Given the description of an element on the screen output the (x, y) to click on. 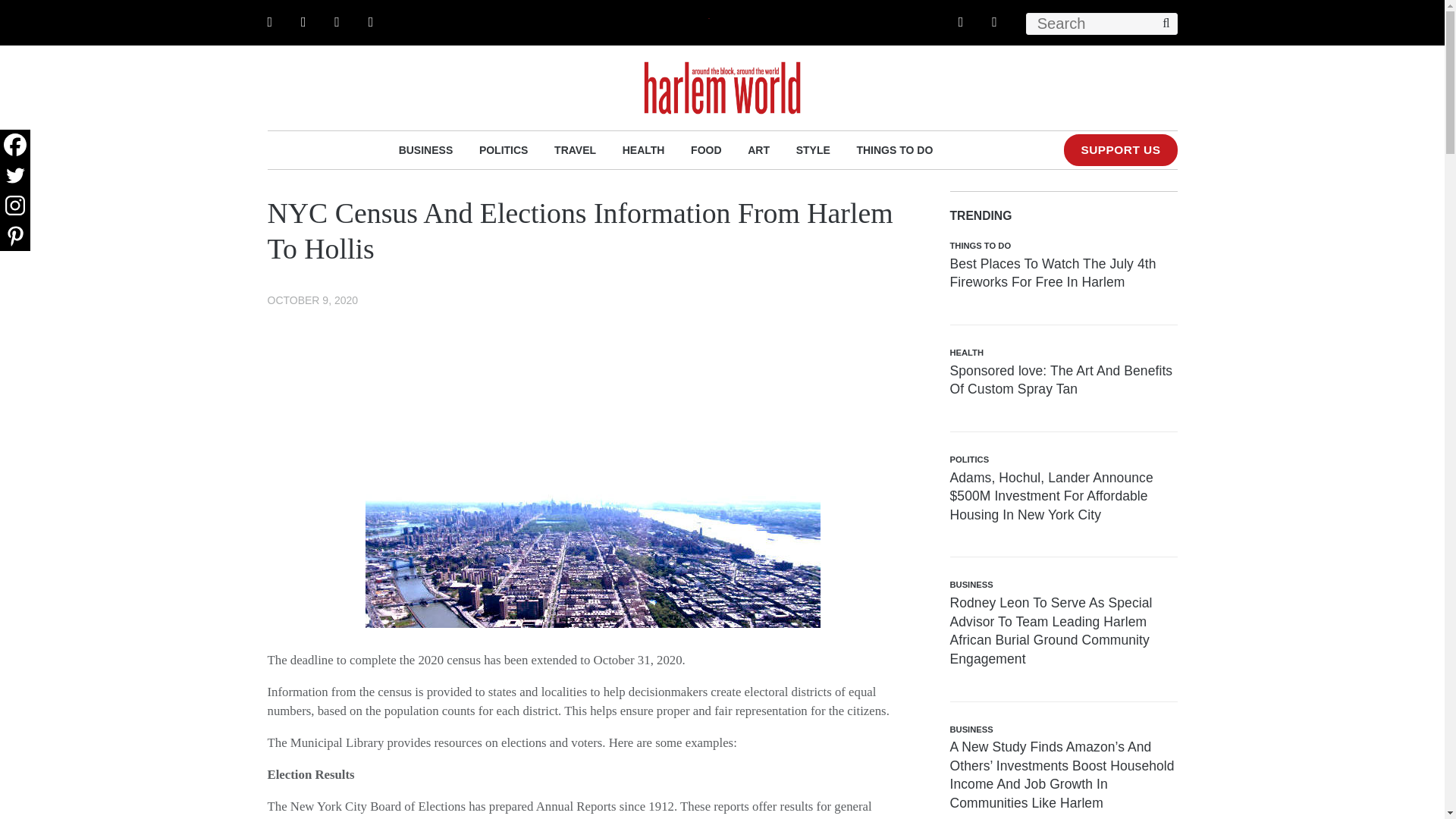
Twitter (15, 174)
TRAVEL (574, 149)
SUPPORT US (1120, 150)
Facebook (15, 144)
Instagram (15, 205)
HEALTH (644, 149)
Pinterest (15, 235)
THINGS TO DO (894, 149)
POLITICS (503, 149)
BUSINESS (425, 149)
STYLE (812, 149)
